Given the description of an element on the screen output the (x, y) to click on. 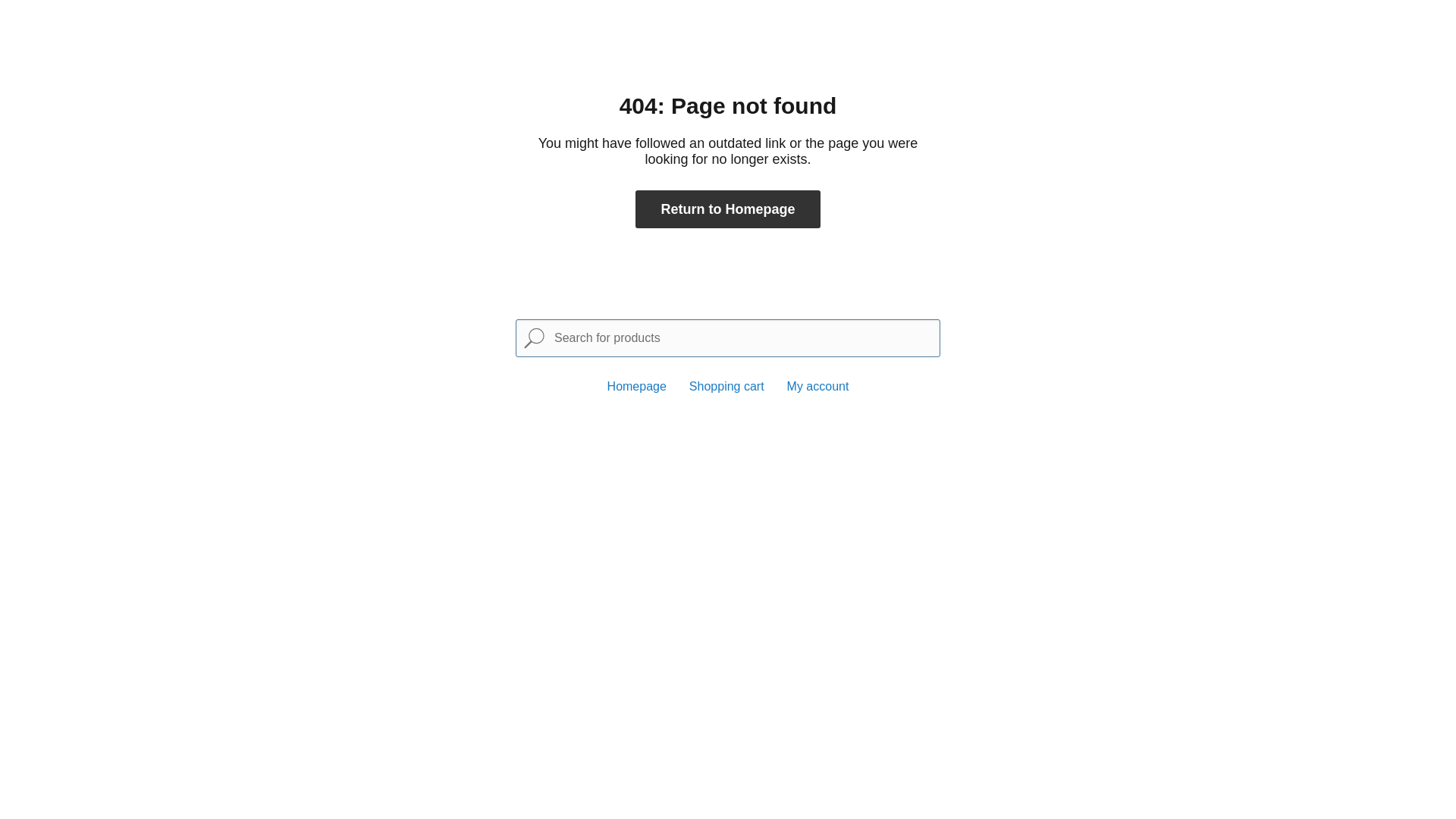
Homepage Element type: text (636, 386)
Shopping cart Element type: text (726, 386)
Return to Homepage Element type: text (727, 209)
My account Element type: text (818, 386)
